Given the description of an element on the screen output the (x, y) to click on. 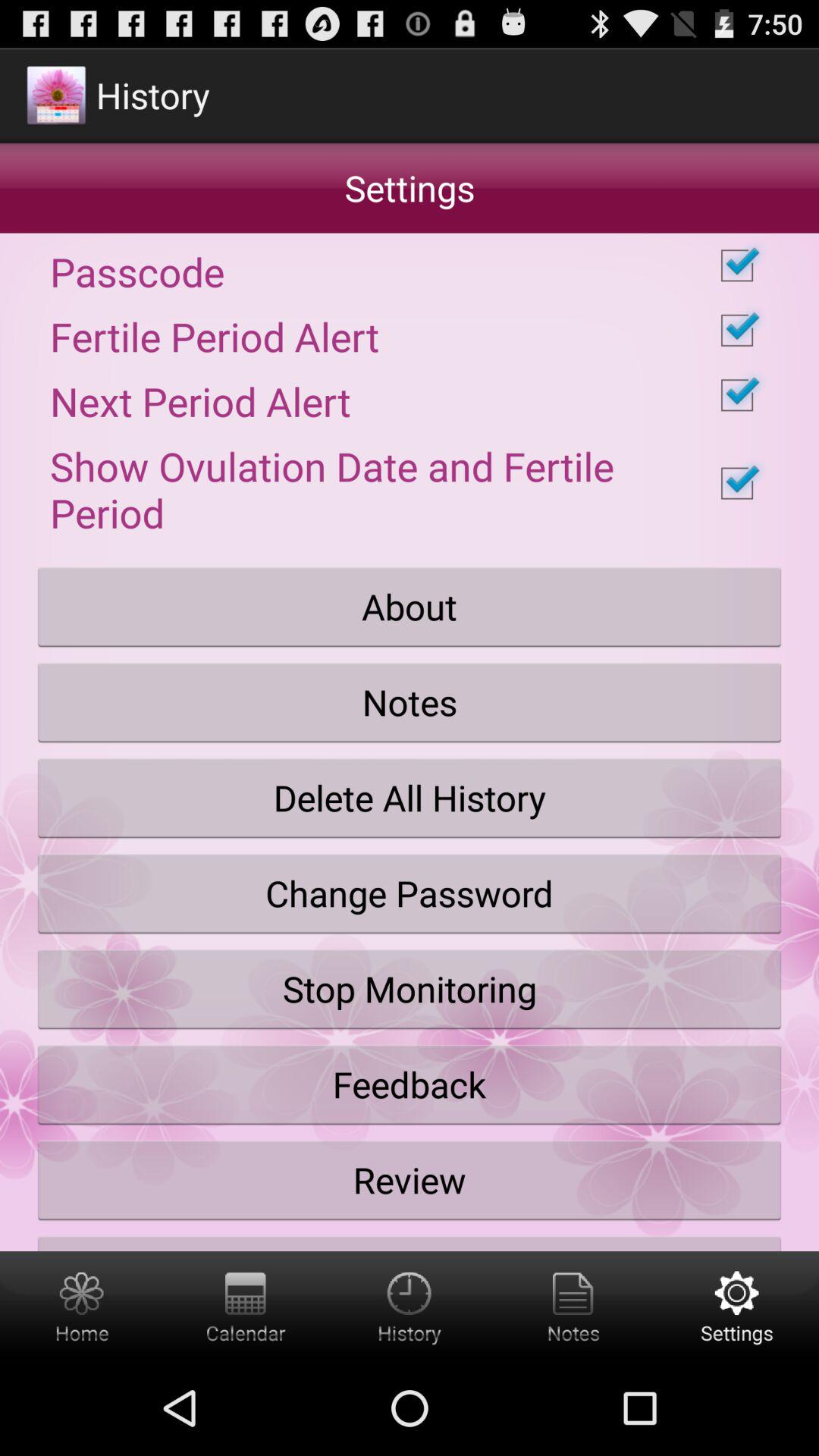
open item below the next period alert (409, 483)
